Given the description of an element on the screen output the (x, y) to click on. 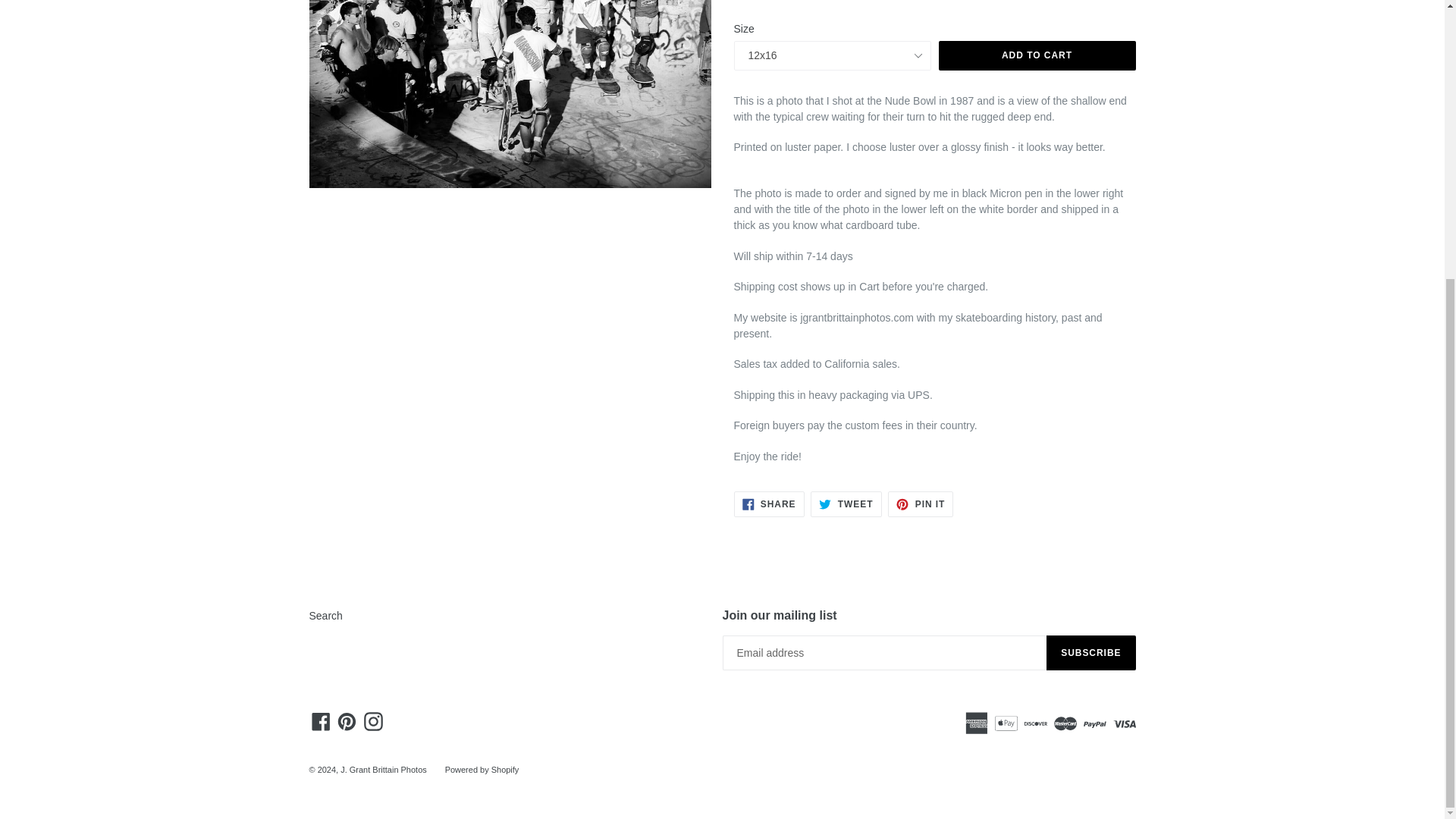
SUBSCRIBE (1090, 652)
J. Grant Brittain Photos on Pinterest (346, 721)
J. Grant Brittain Photos on Instagram (373, 721)
Tweet on Twitter (769, 503)
ADD TO CART (845, 503)
Pin on Pinterest (845, 503)
J. Grant Brittain Photos on Facebook (1037, 55)
Share on Facebook (920, 503)
